Given the description of an element on the screen output the (x, y) to click on. 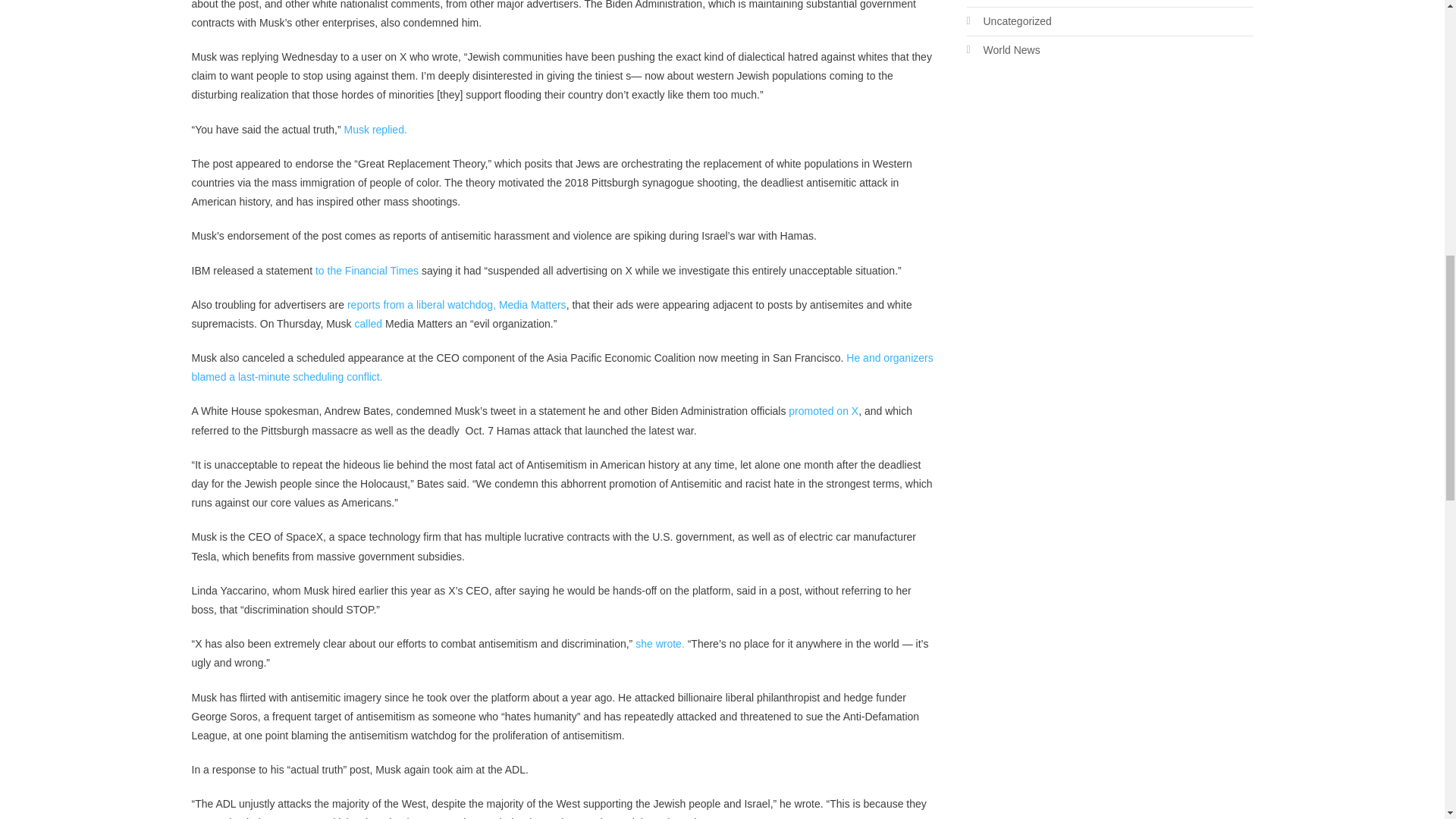
she wrote. (659, 644)
reports from a liberal watchdog, Media Matters (456, 304)
promoted on X (824, 410)
called (368, 323)
He and organizers blamed a last-minute scheduling conflict. (561, 367)
Musk replied. (375, 129)
to the Financial Times (367, 270)
